Given the description of an element on the screen output the (x, y) to click on. 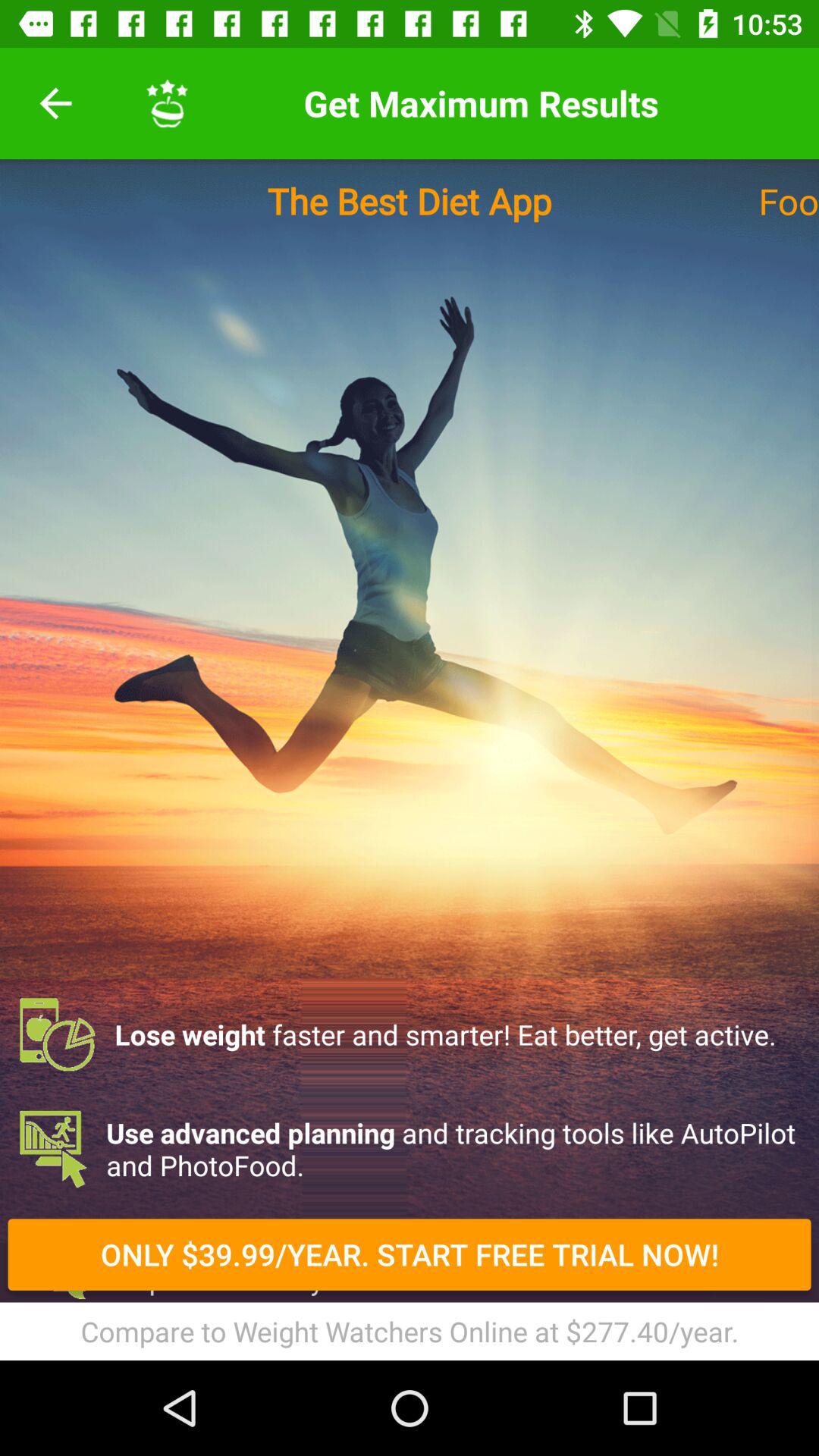
turn off the link your diary (409, 1339)
